Given the description of an element on the screen output the (x, y) to click on. 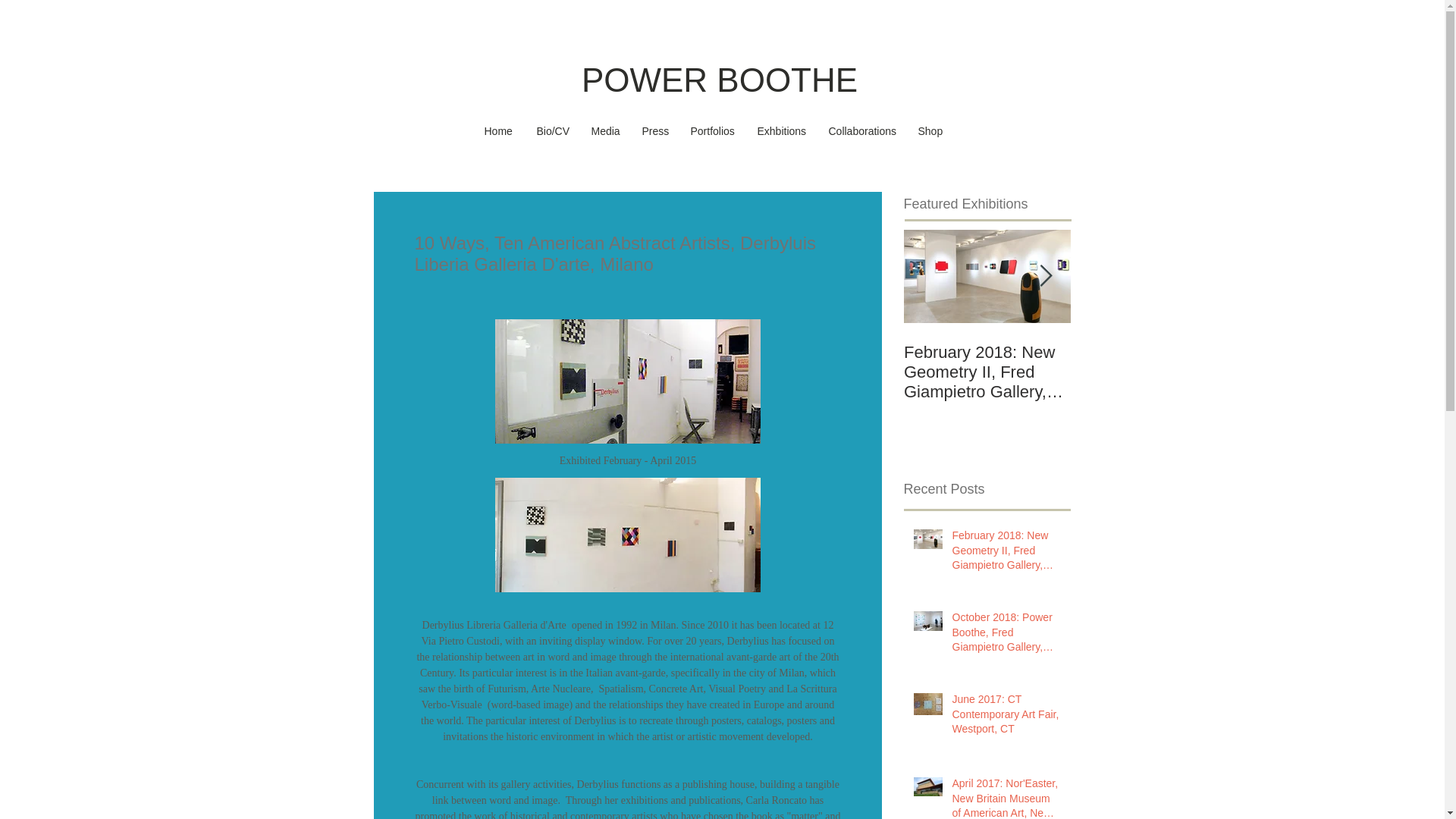
Shop (930, 131)
Home (499, 131)
Media (604, 131)
POWER BOOTHE (718, 79)
Exhbitions (780, 131)
June 2017: CT Contemporary Art Fair, Westport, CT (1006, 717)
